Given the description of an element on the screen output the (x, y) to click on. 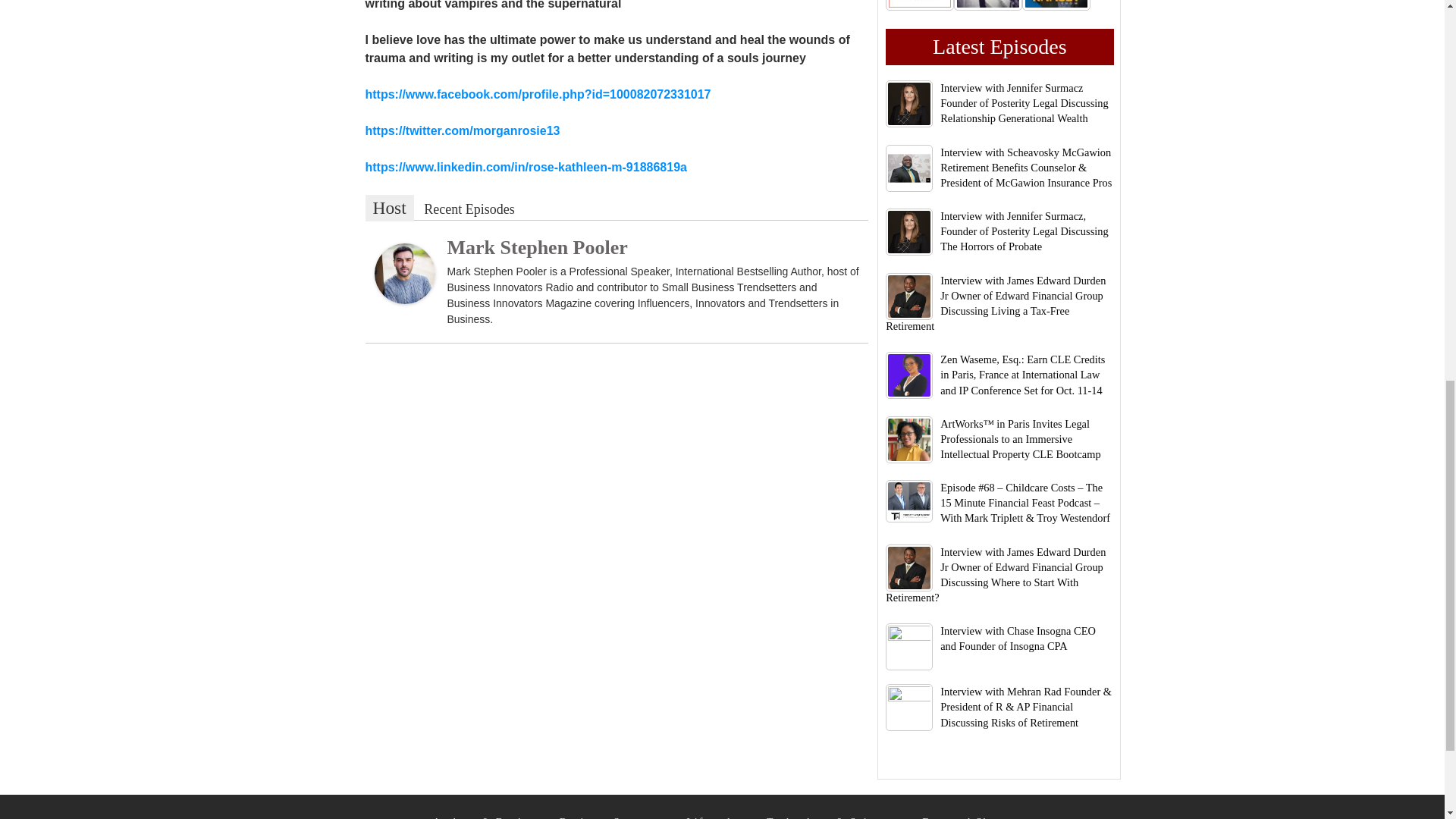
TED Talks Daily (919, 5)
Host (389, 207)
Mark Stephen Pooler (536, 247)
Mark Stephen Pooler (404, 272)
The Dave Ramsey Show (1056, 5)
Recent Episodes (468, 209)
